Given the description of an element on the screen output the (x, y) to click on. 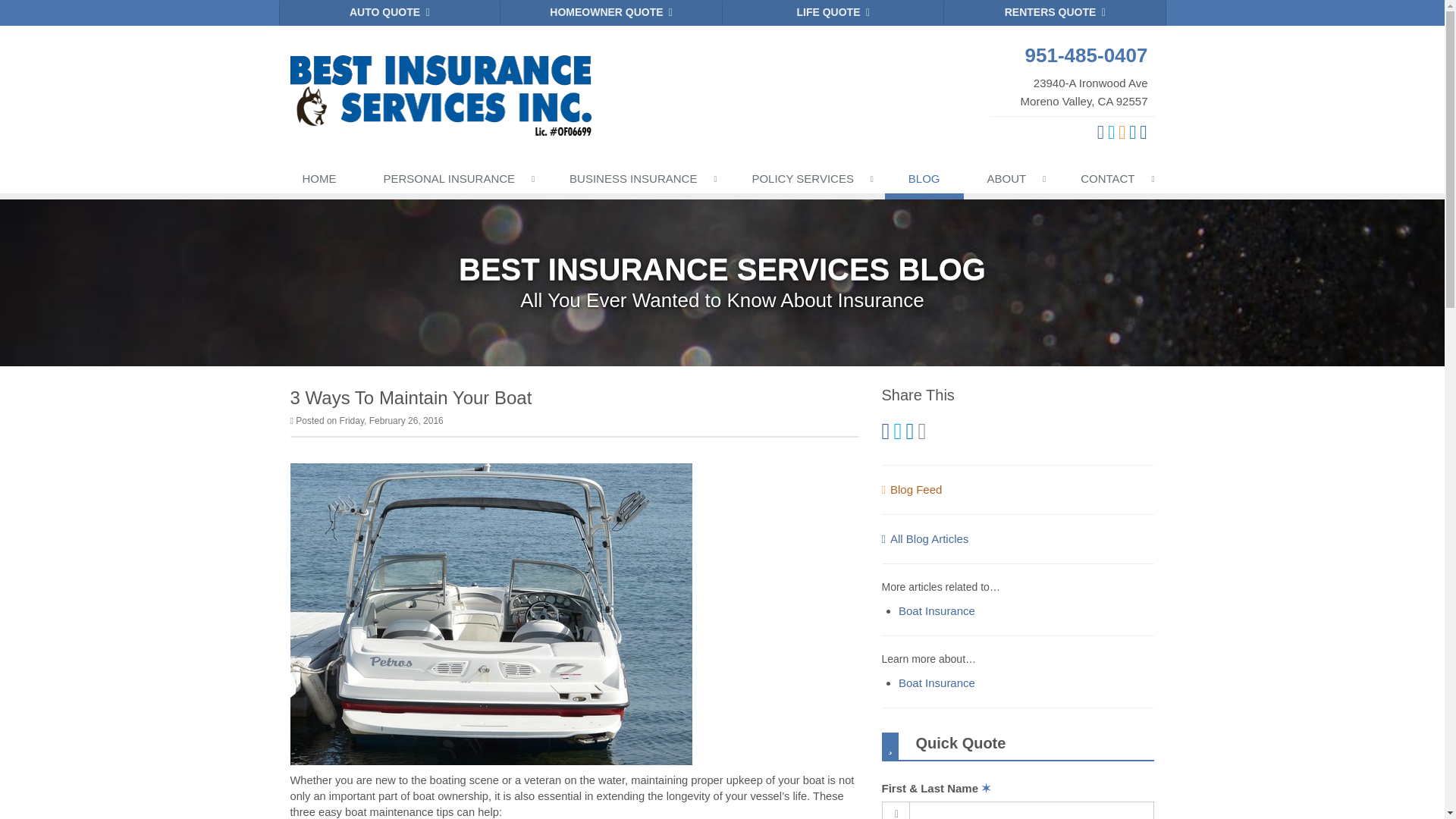
PERSONAL INSURANCE (452, 181)
HOME (319, 181)
951-485-0407 (1072, 54)
HOMEOWNER QUOTE (611, 12)
RENTERS QUOTE (1054, 12)
LIFE QUOTE (832, 12)
AUTO QUOTE (1072, 74)
